Given the description of an element on the screen output the (x, y) to click on. 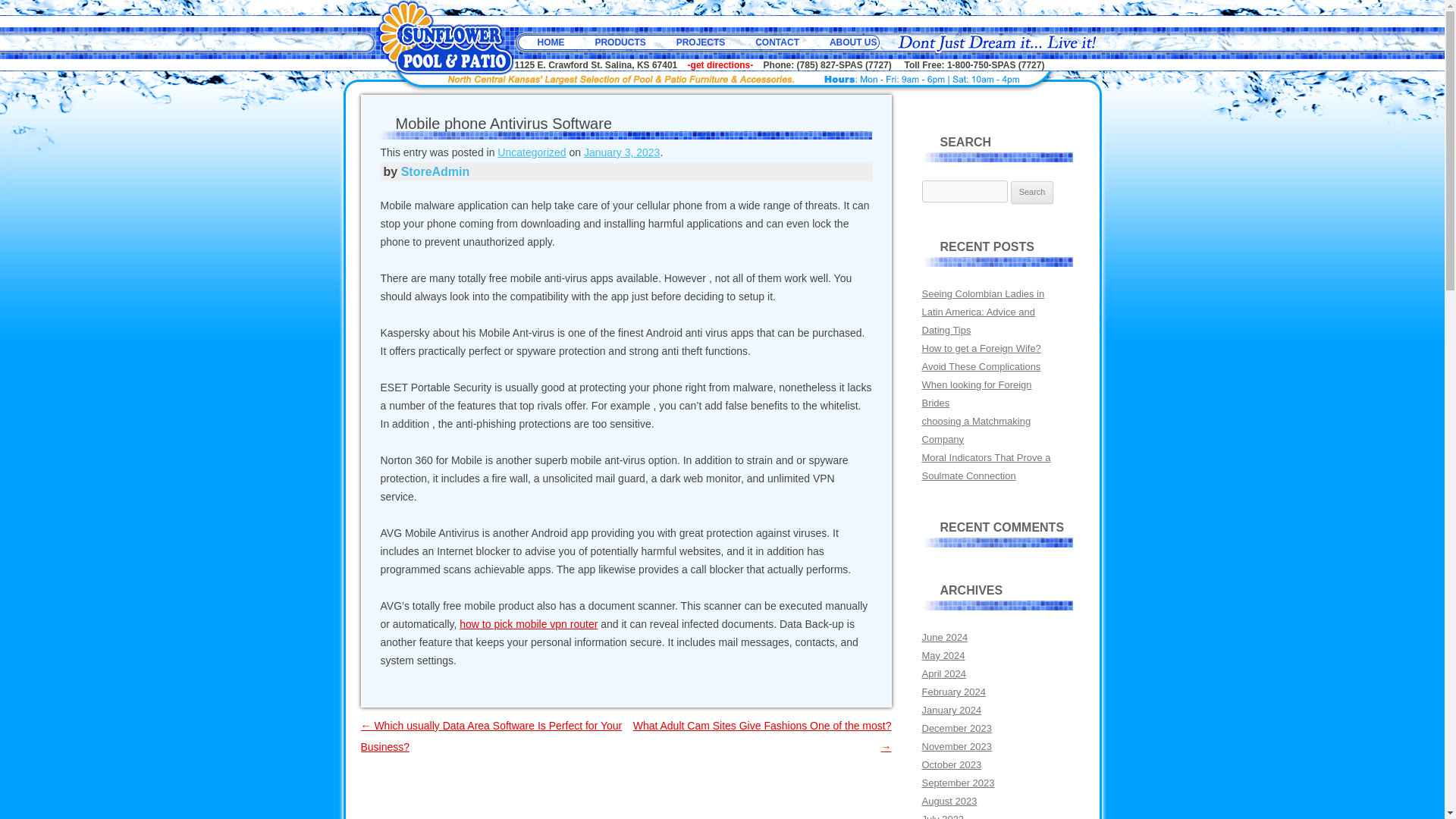
January 2024 (951, 709)
ABOUT US (853, 42)
PRODUCTS (619, 42)
CONTACT (777, 42)
August 2023 (948, 800)
-get directions- (720, 64)
How to get a Foreign Wife? (981, 348)
6:00 pm (621, 152)
StoreAdmin (435, 171)
July 2023 (942, 816)
